Given the description of an element on the screen output the (x, y) to click on. 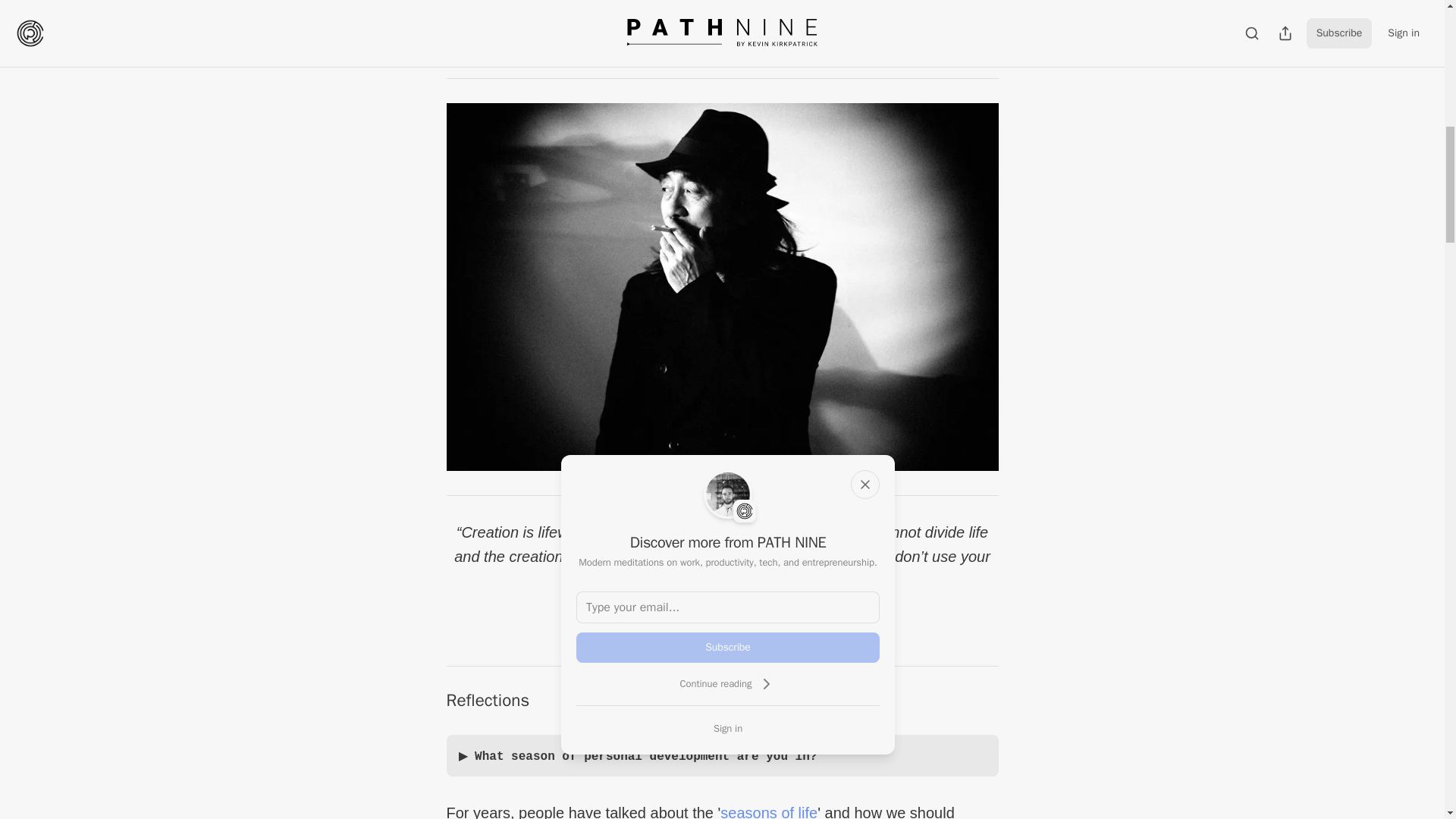
seasons of life (768, 811)
Sign in (727, 727)
Subscribe (827, 38)
Subscribe (727, 647)
